Given the description of an element on the screen output the (x, y) to click on. 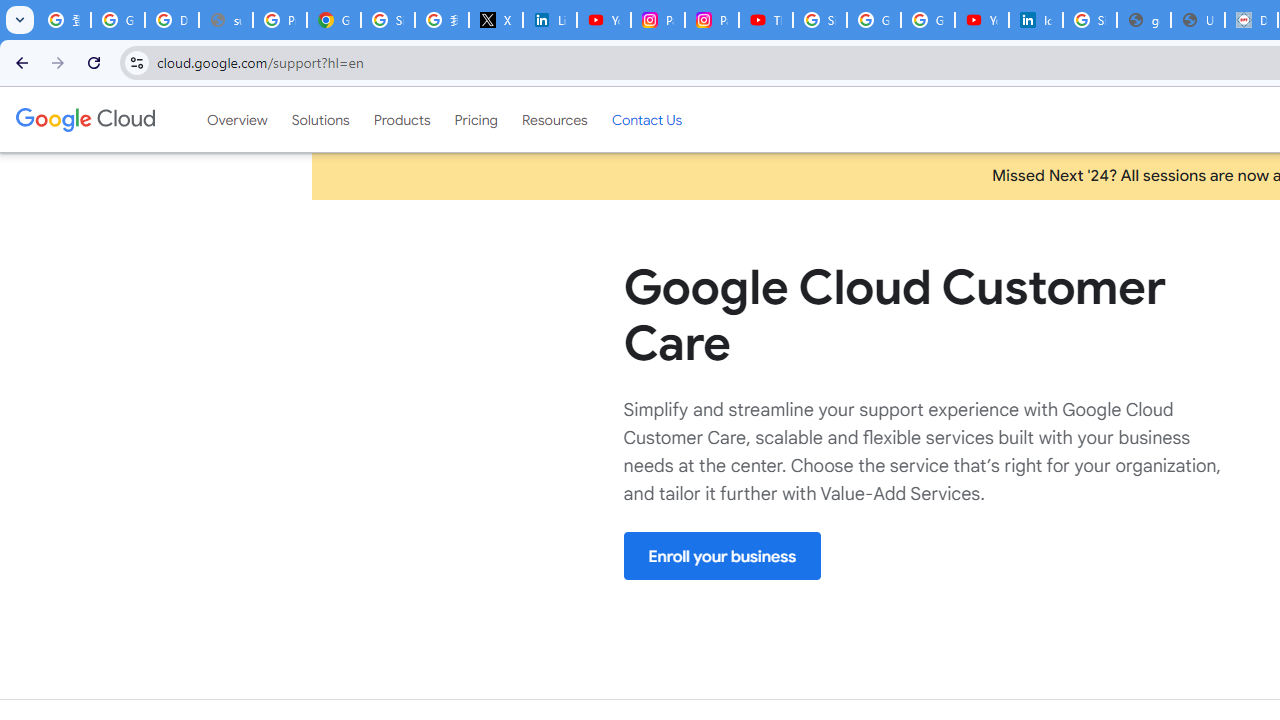
LinkedIn Privacy Policy (550, 20)
Sign in - Google Accounts (1089, 20)
X (495, 20)
support.google.com - Network error (225, 20)
google_privacy_policy_en.pdf (1144, 20)
Identity verification via Persona | LinkedIn Help (1035, 20)
YouTube Content Monetization Policies - How YouTube Works (604, 20)
Solutions (320, 119)
